Given the description of an element on the screen output the (x, y) to click on. 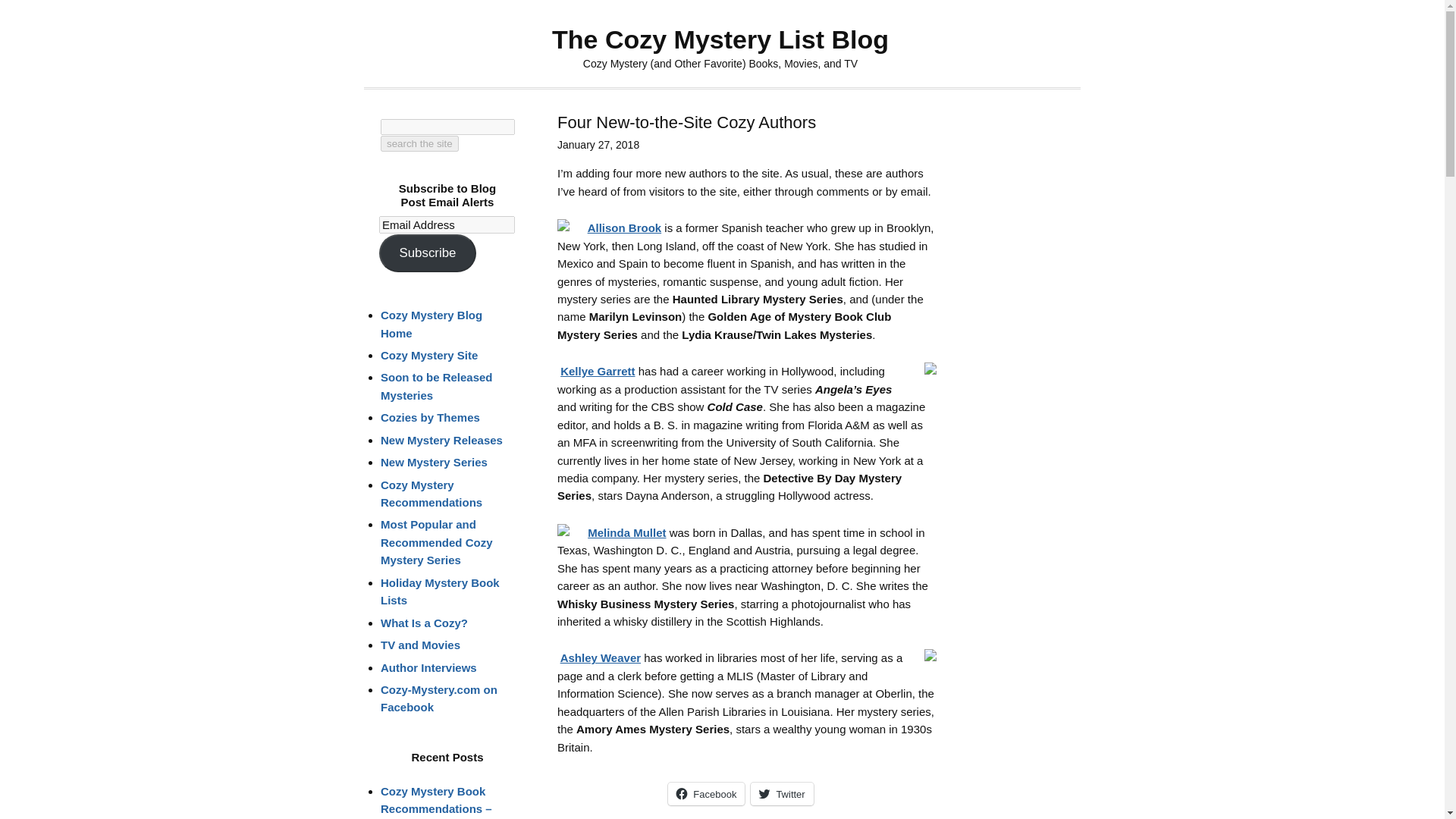
Melinda Mullet (626, 532)
Kellye Garrett (597, 370)
Allison Brook (625, 227)
Click to share on Twitter (781, 793)
The Cozy Mystery List Blog (719, 39)
Twitter (781, 793)
search the site (419, 143)
Click to share on Facebook (706, 793)
Facebook (706, 793)
Ashley Weaver (600, 657)
